Given the description of an element on the screen output the (x, y) to click on. 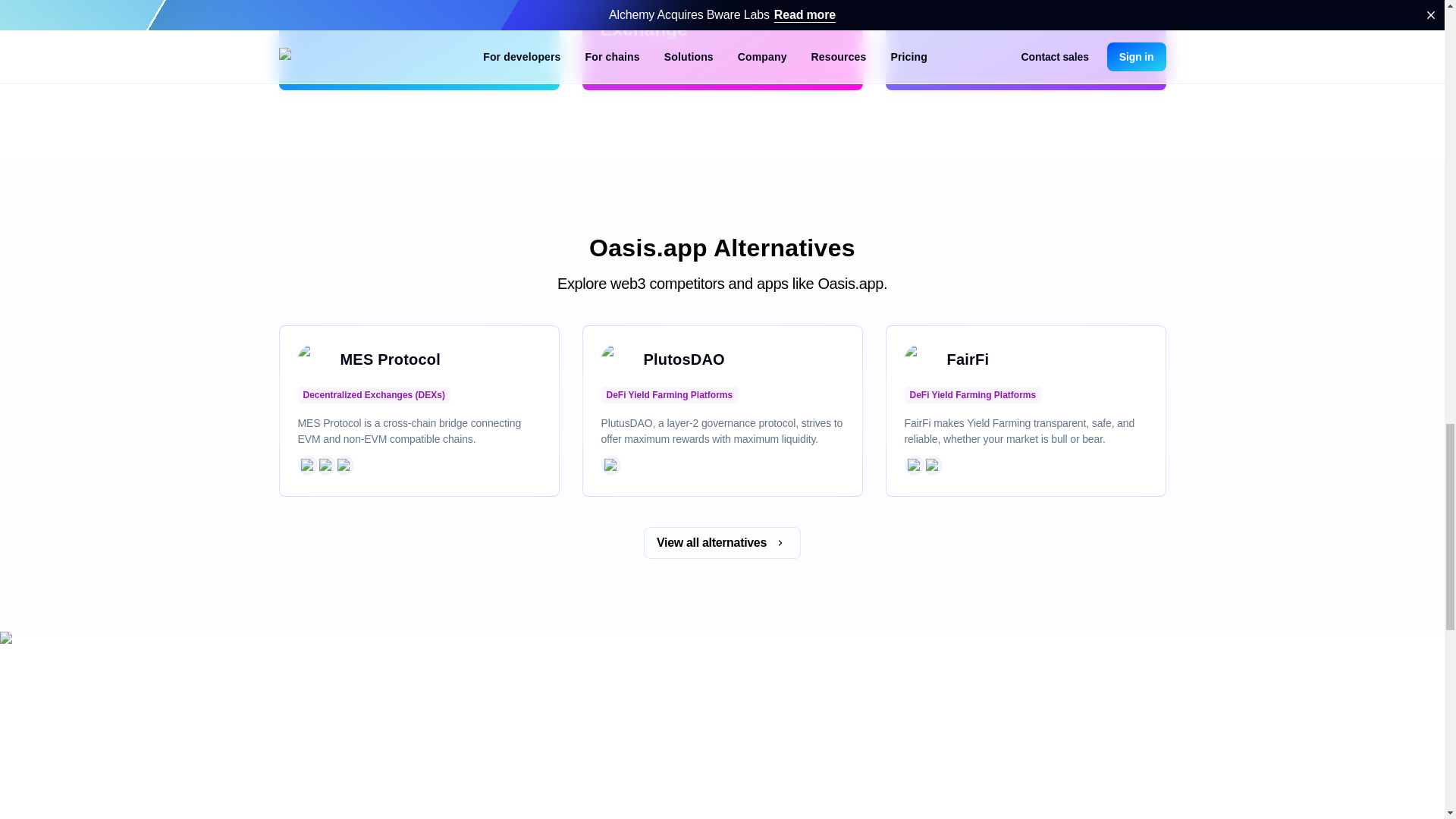
BNB Chain (913, 465)
Arbitrum (306, 465)
Arbitrum (610, 465)
Polygon (931, 465)
Optimism (343, 465)
Polygon (324, 465)
